Given the description of an element on the screen output the (x, y) to click on. 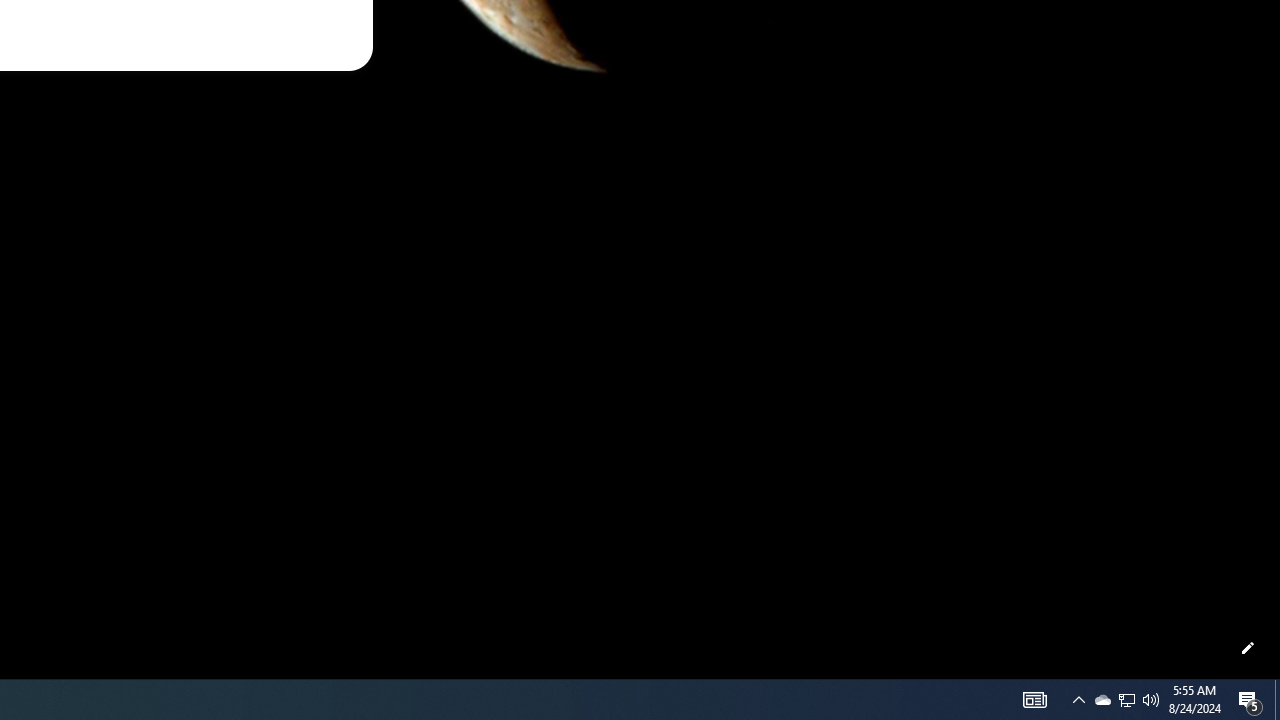
Customize this page (1247, 647)
